Given the description of an element on the screen output the (x, y) to click on. 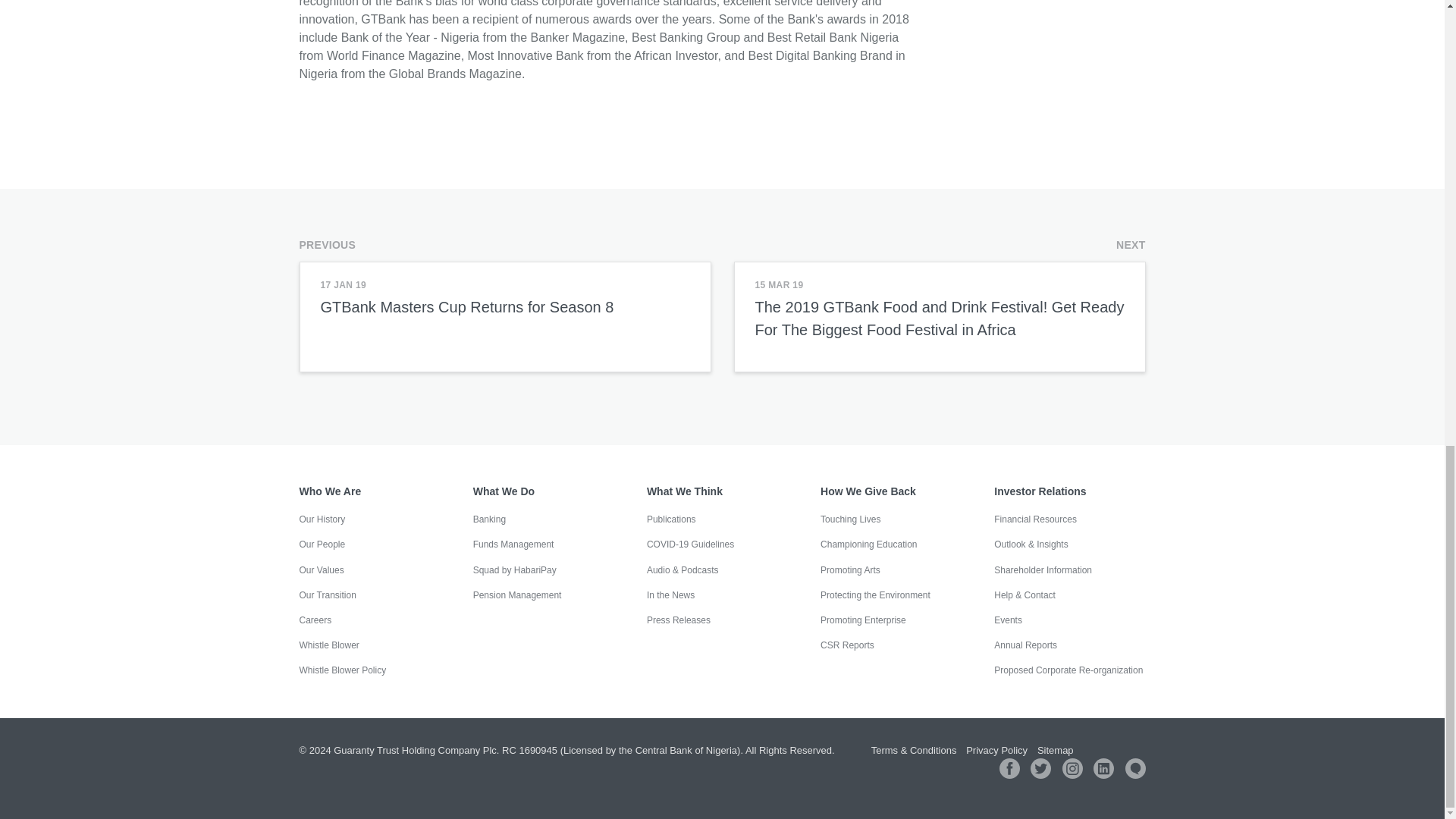
Instagram (1072, 768)
LinkedIn (1103, 768)
Twitter (1040, 768)
Facebook (1009, 768)
635 Blog (1135, 768)
